Given the description of an element on the screen output the (x, y) to click on. 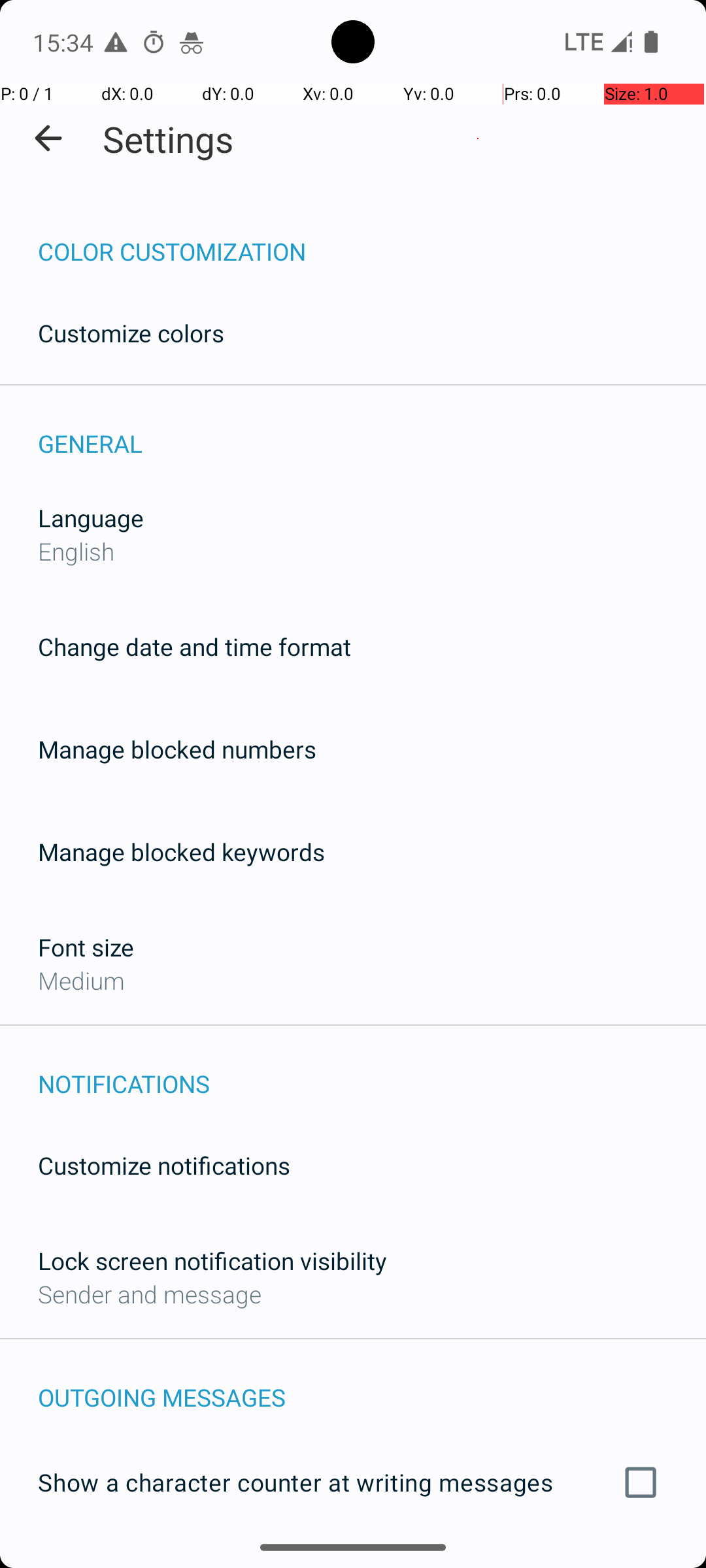
NOTIFICATIONS Element type: android.widget.TextView (371, 1069)
OUTGOING MESSAGES Element type: android.widget.TextView (371, 1383)
Change date and time format Element type: android.widget.TextView (194, 646)
Manage blocked numbers Element type: android.widget.TextView (176, 748)
Manage blocked keywords Element type: android.widget.TextView (180, 851)
Font size Element type: android.widget.TextView (85, 946)
Medium Element type: android.widget.TextView (80, 979)
Lock screen notification visibility Element type: android.widget.TextView (211, 1260)
Sender and message Element type: android.widget.TextView (149, 1293)
Show a character counter at writing messages Element type: android.widget.CheckBox (352, 1482)
Remove accents and diacritics at sending messages Element type: android.widget.CheckBox (352, 1559)
